Given the description of an element on the screen output the (x, y) to click on. 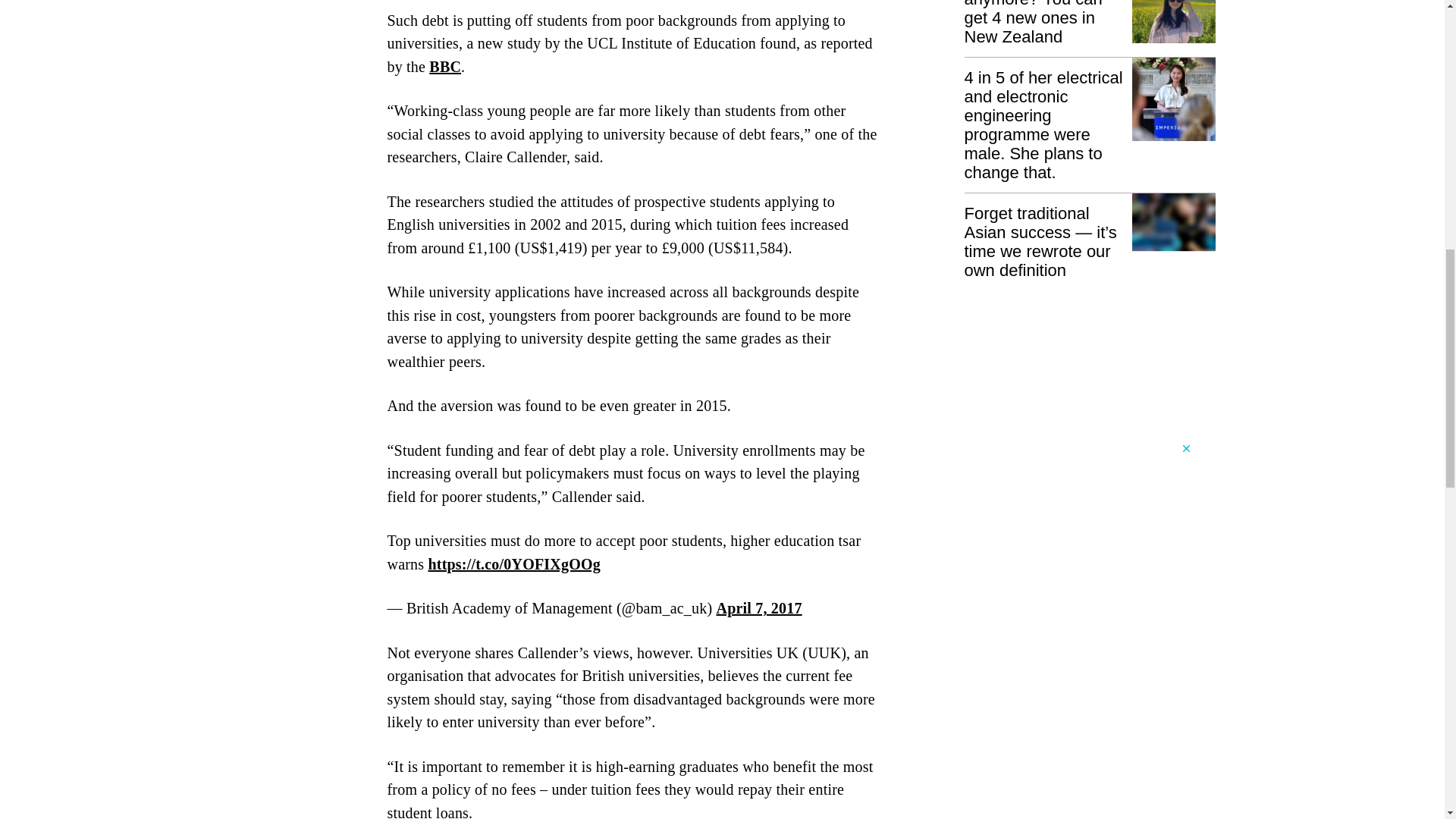
April 7, 2017 (759, 607)
BBC (445, 66)
